Given the description of an element on the screen output the (x, y) to click on. 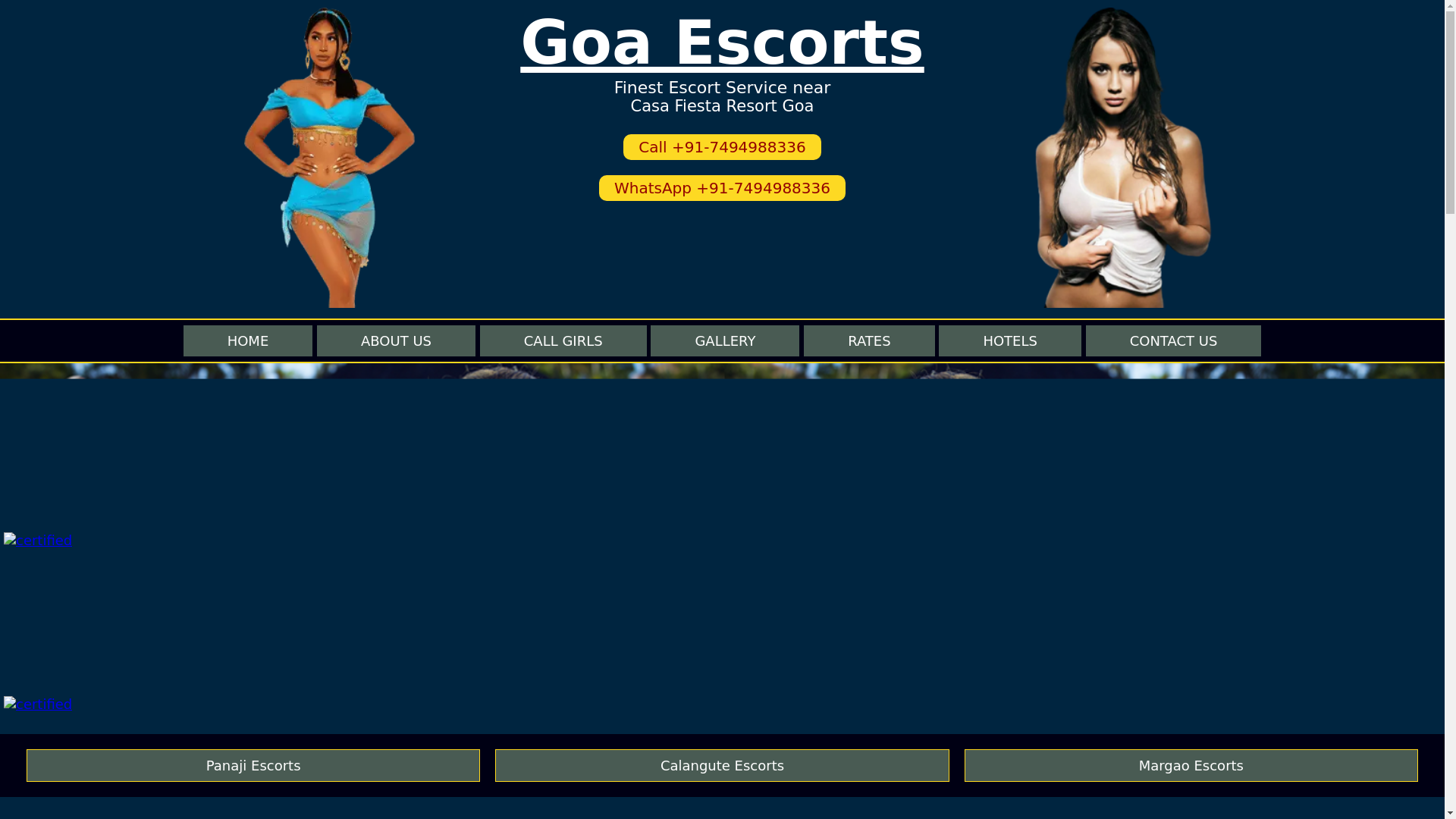
Goa Escorts (721, 42)
RATES (868, 340)
Panaji Escorts (253, 765)
Margao Escorts (1190, 765)
GALLERY (724, 340)
HOME (248, 340)
CONTACT US (1174, 340)
CALL GIRLS (563, 340)
Calangute Escorts (722, 765)
ABOUT US (396, 340)
HOTELS (1010, 340)
